Given the description of an element on the screen output the (x, y) to click on. 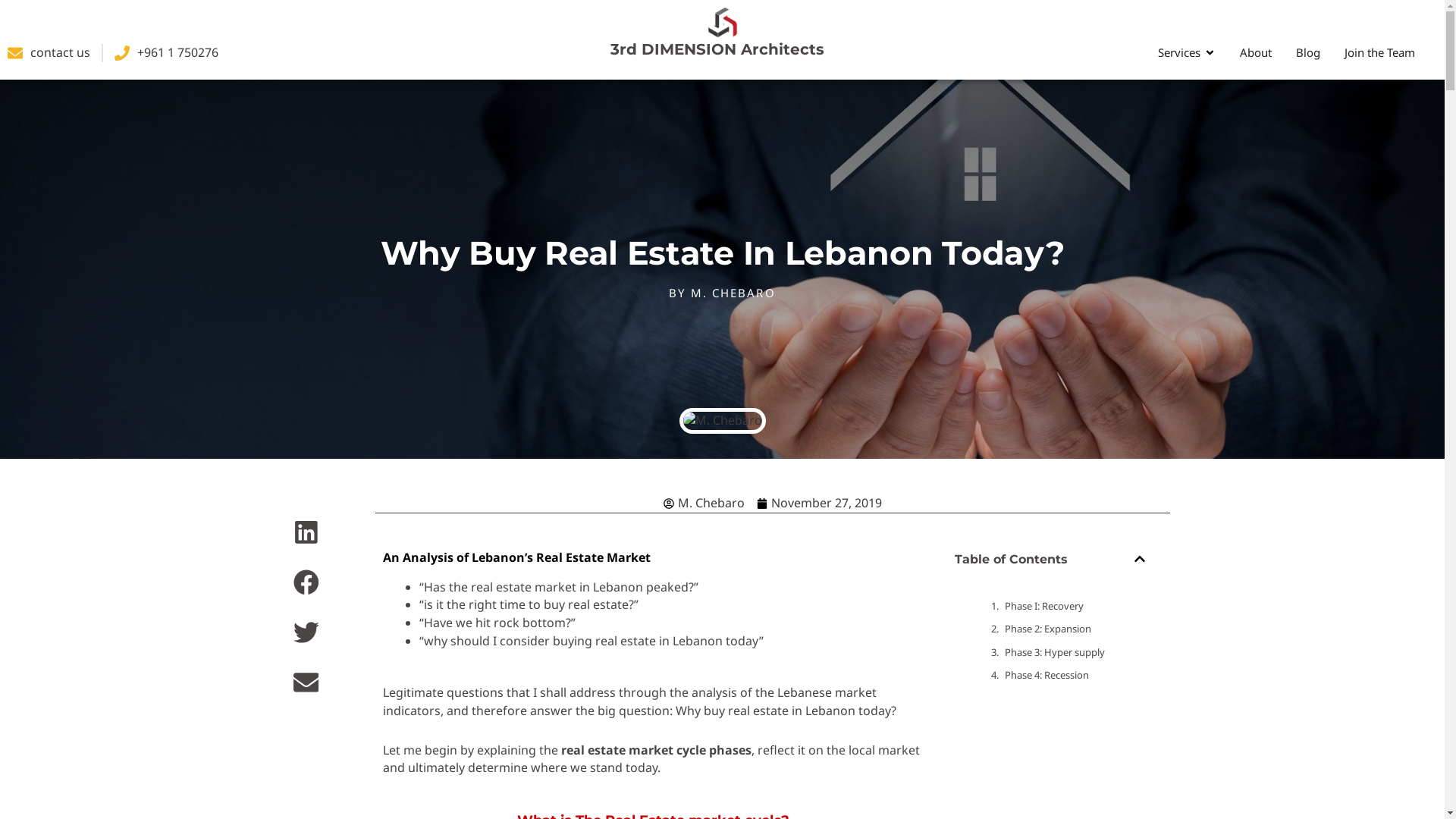
Phase 4: Recession Element type: text (1046, 675)
contact us Element type: text (48, 52)
Phase 3: Hyper supply Element type: text (1054, 652)
About Element type: text (1255, 52)
+961 1 750276 Element type: text (166, 52)
Join the Team Element type: text (1379, 52)
Blog Element type: text (1307, 52)
3rd DIMENSION Architects Element type: text (717, 49)
Phase I: Recovery Element type: text (1043, 606)
Phase 2: Expansion Element type: text (1047, 629)
